Given the description of an element on the screen output the (x, y) to click on. 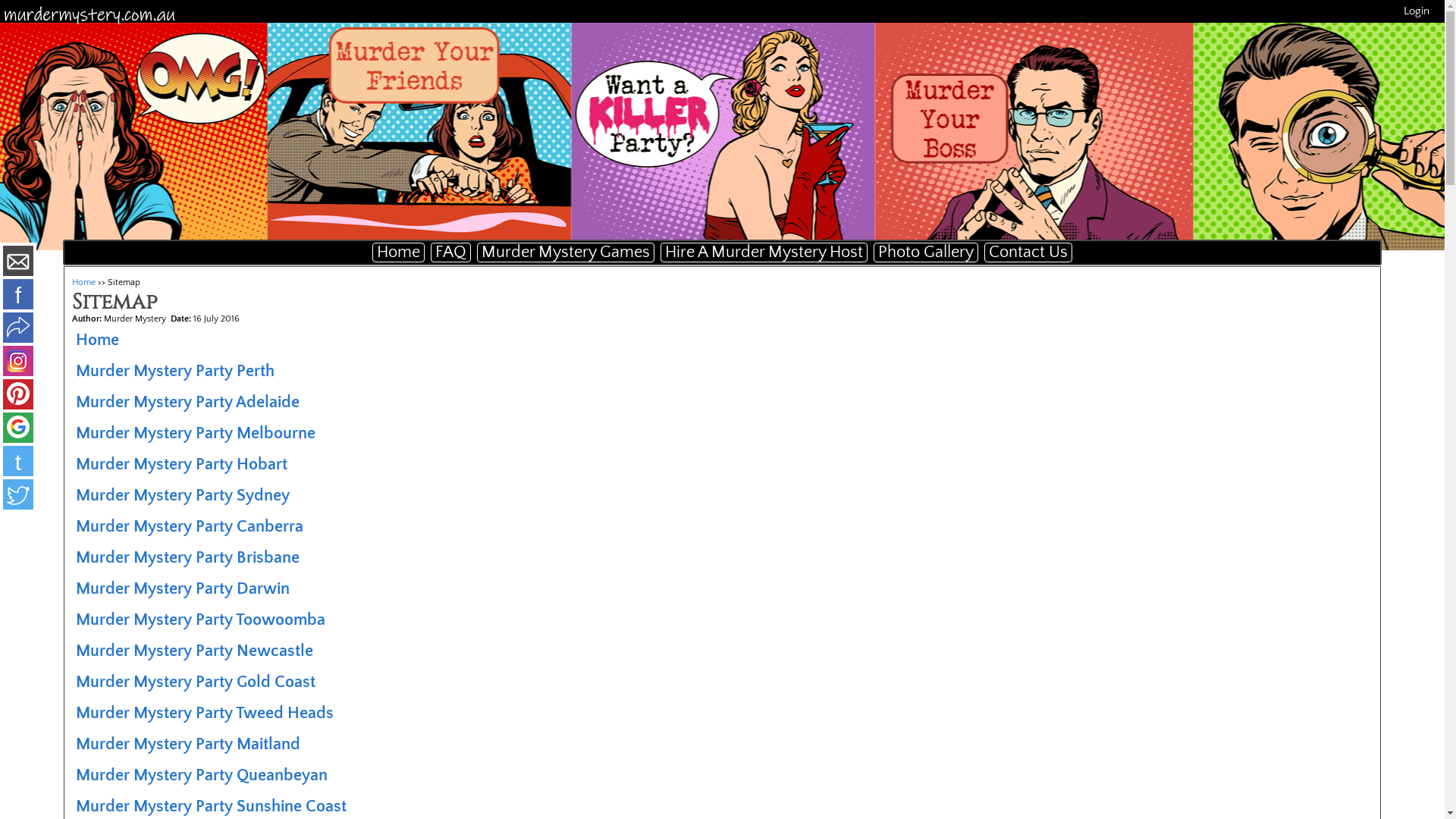
Murder Mystery Party Darwin Element type: text (182, 588)
f Element type: text (18, 294)
Hire A Murder Mystery Host Element type: text (763, 252)
FAQ Element type: text (450, 251)
Murder Mystery Party Sunshine Coast Element type: text (210, 806)
Photo Gallery Element type: text (925, 252)
Murder Mystery Party Maitland Element type: text (187, 743)
Murder Mystery Party Queanbeyan Element type: text (201, 774)
Murder Mystery Party Canberra Element type: text (189, 526)
Contact Us Element type: text (1027, 251)
Murder Mystery Party Perth Element type: text (174, 370)
t Element type: text (18, 461)
Murder Mystery Games Element type: text (565, 251)
Murder Mystery Party Brisbane Element type: text (187, 557)
Photo Gallery Element type: text (925, 251)
FAQ Element type: text (450, 252)
Murder Mystery Party Hobart Element type: text (181, 464)
Murder Mystery Party Toowoomba Element type: text (200, 619)
Murder Mystery Party Newcastle Element type: text (194, 650)
Home Element type: text (398, 252)
Murder Mystery Party Melbourne Element type: text (195, 432)
Murder Mystery Party Tweed Heads Element type: text (204, 712)
Login Element type: text (1416, 10)
Home Element type: text (83, 282)
Murder Mystery Party Sydney Element type: text (182, 495)
Share on Facebook Element type: hover (17, 328)
Hire A Murder Mystery Host Element type: text (763, 251)
Home Element type: text (97, 339)
Home Element type: text (398, 251)
Murder Mystery Party Gold Coast Element type: text (195, 681)
Murder Mystery Games Element type: text (565, 252)
Murder Mystery Party Adelaide Element type: text (187, 401)
